Given the description of an element on the screen output the (x, y) to click on. 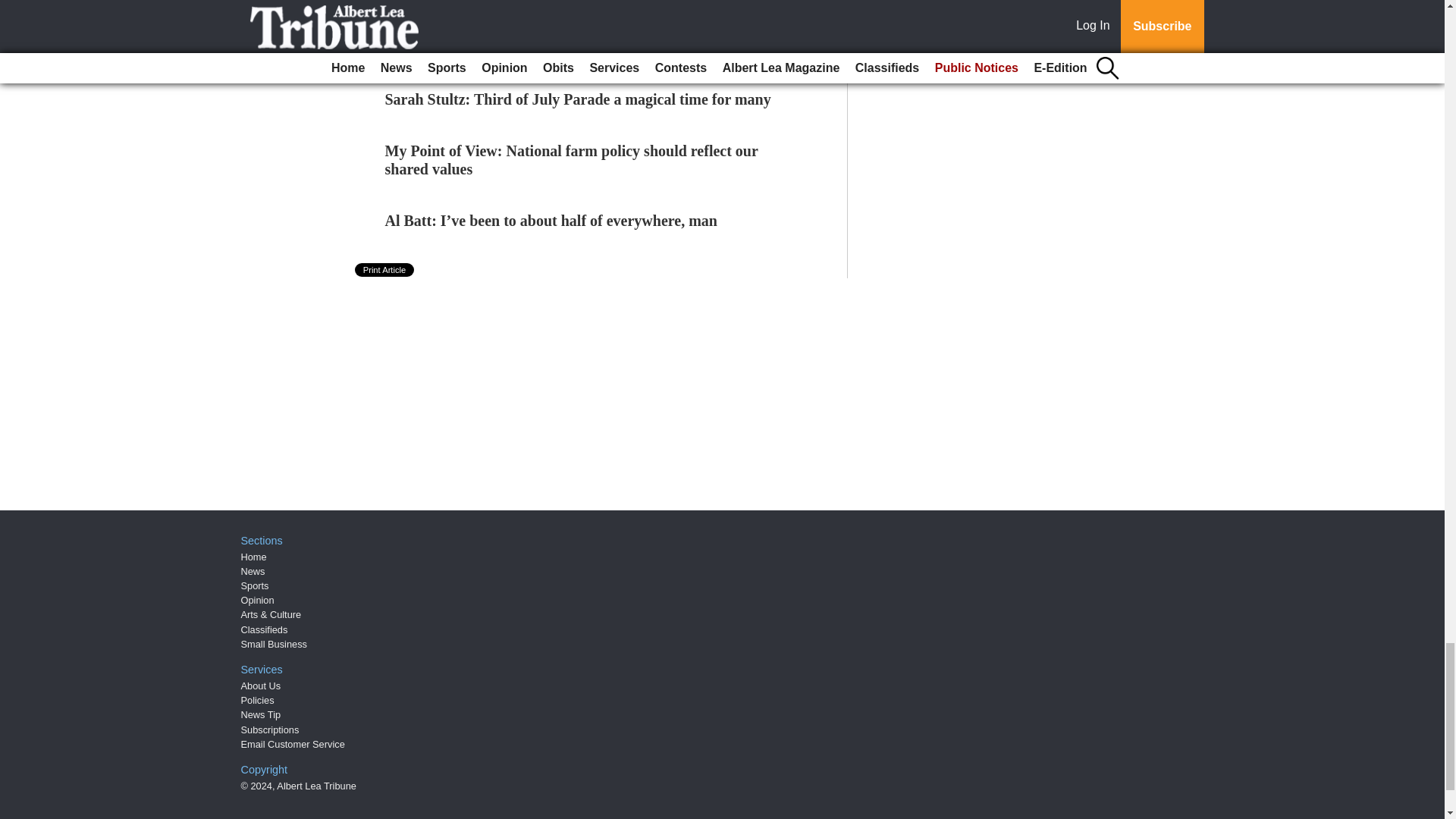
Editorial: Thank you to those who keep the city safe (553, 47)
Sarah Stultz: Third of July Parade a magical time for many (578, 98)
